Given the description of an element on the screen output the (x, y) to click on. 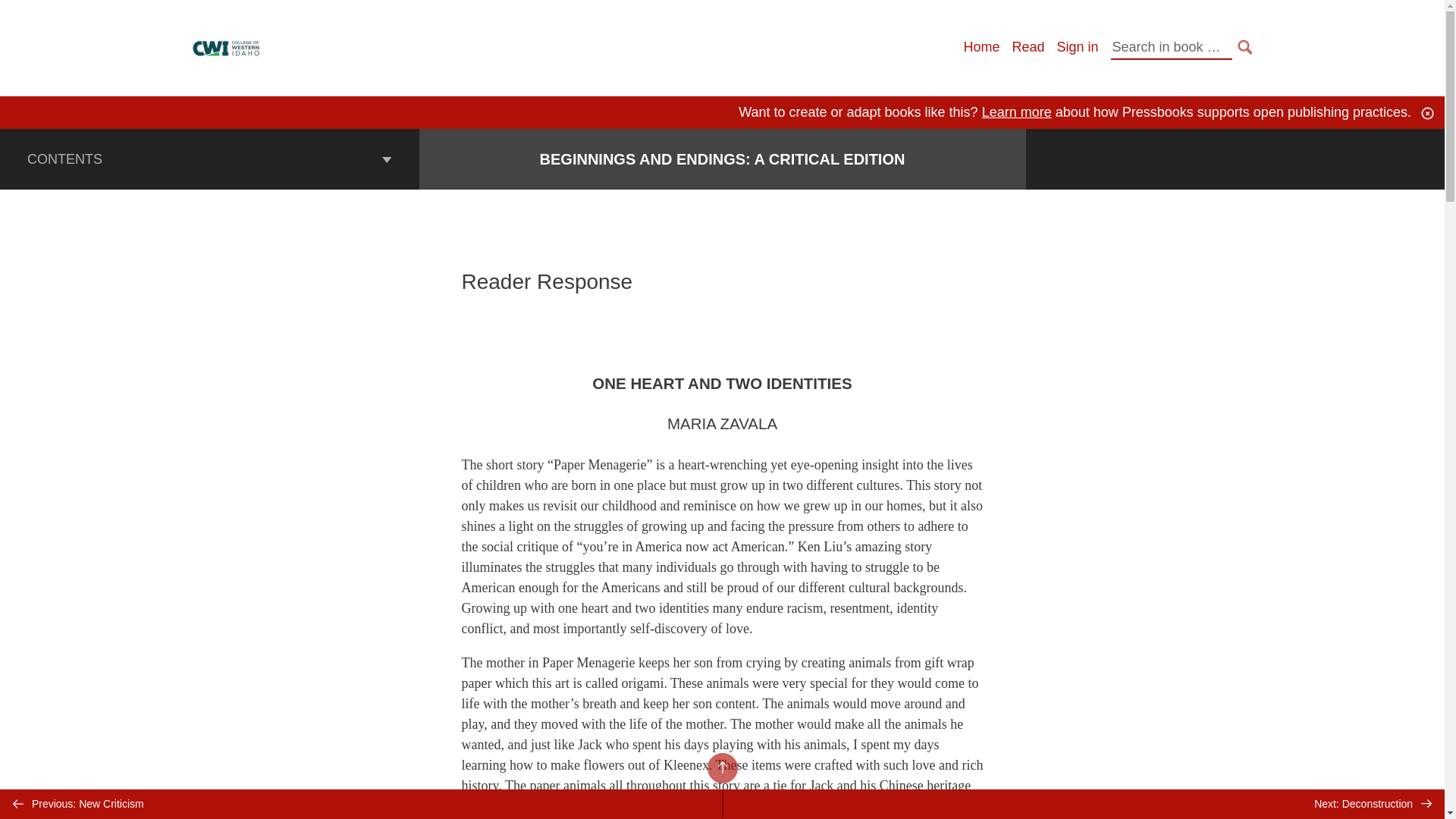
Home (980, 46)
Learn more (1016, 111)
Previous: New Criticism (361, 804)
Sign in (1077, 46)
Previous: New Criticism (361, 804)
CONTENTS (209, 158)
BACK TO TOP (721, 767)
BEGINNINGS AND ENDINGS: A CRITICAL EDITION (722, 159)
Read (1027, 46)
